Given the description of an element on the screen output the (x, y) to click on. 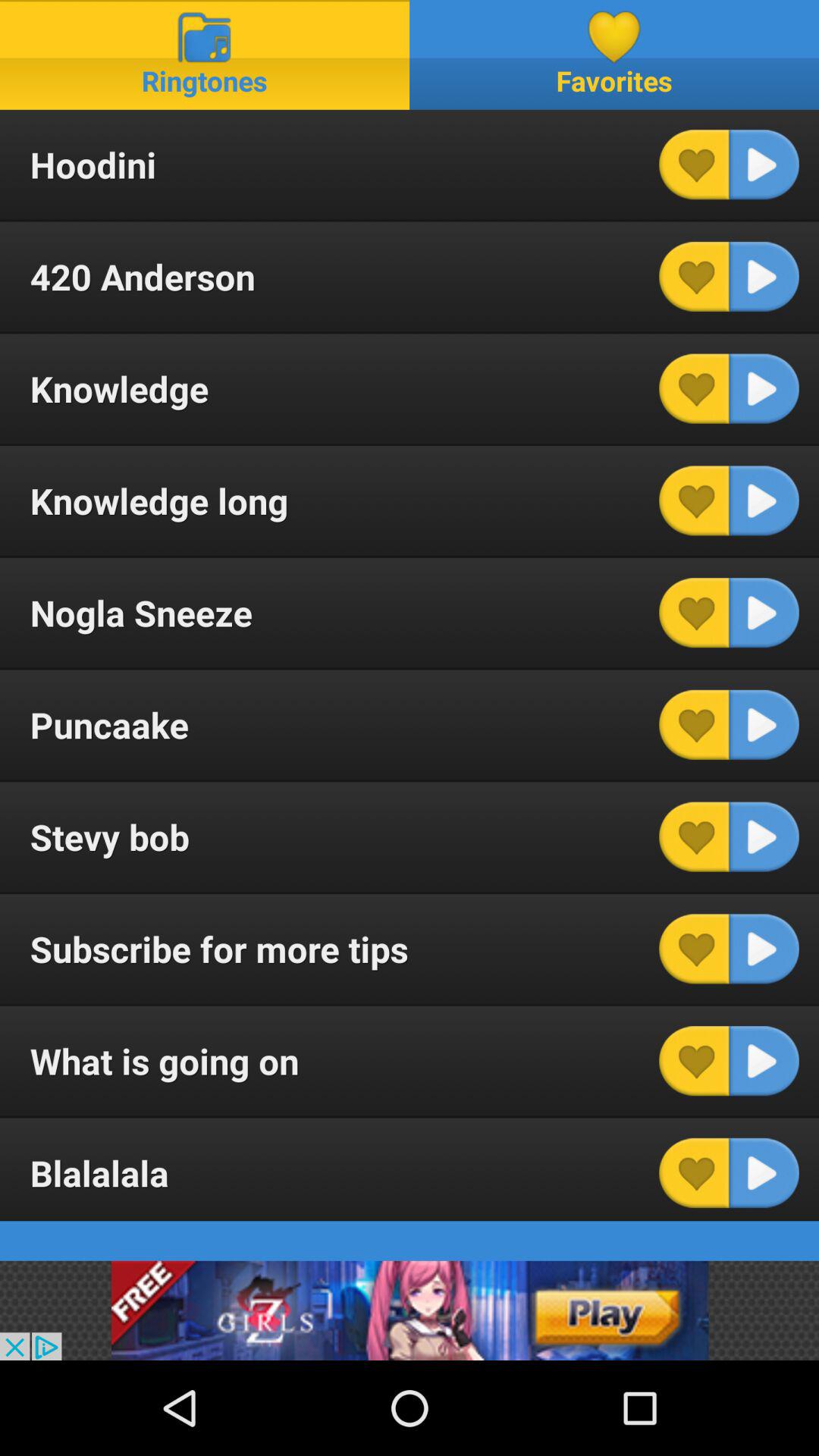
favorite item (694, 1060)
